Given the description of an element on the screen output the (x, y) to click on. 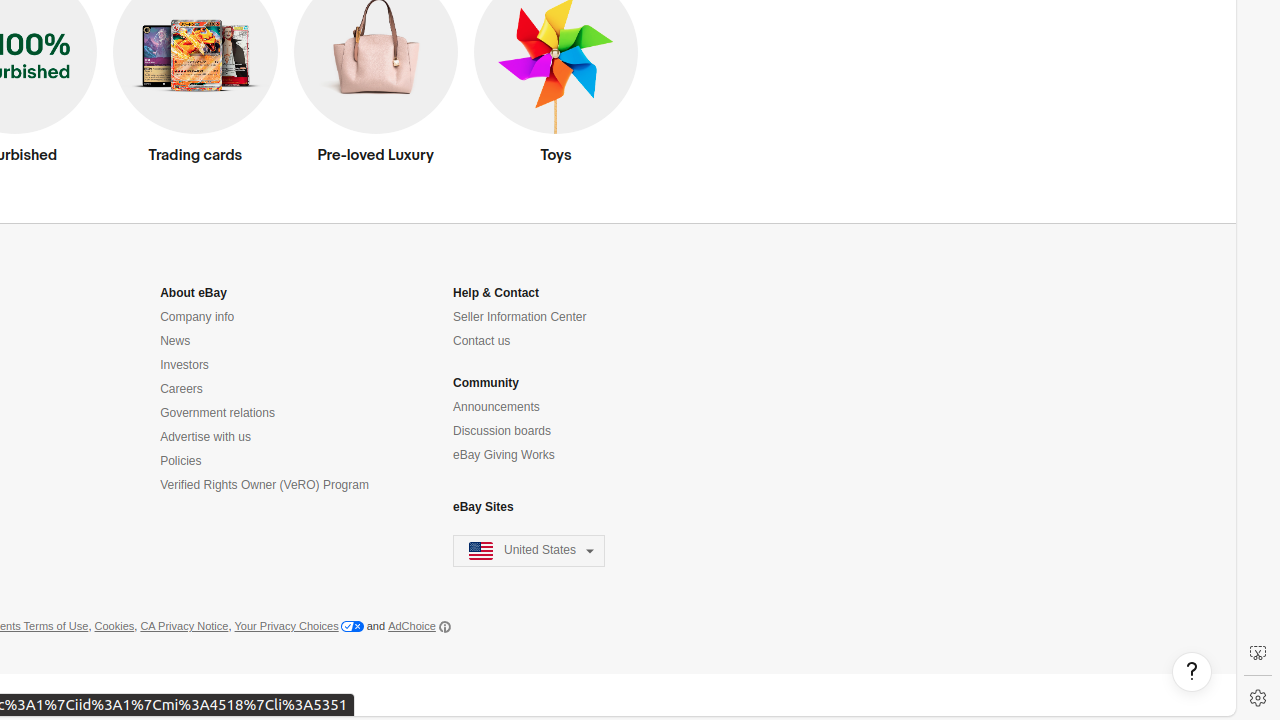
Contact us Element type: link (482, 341)
eBay sites,United States Element type: push-button (529, 551)
Your Privacy Choices Element type: link (299, 627)
Advertise with us Element type: link (205, 437)
Investors Element type: link (184, 365)
